Given the description of an element on the screen output the (x, y) to click on. 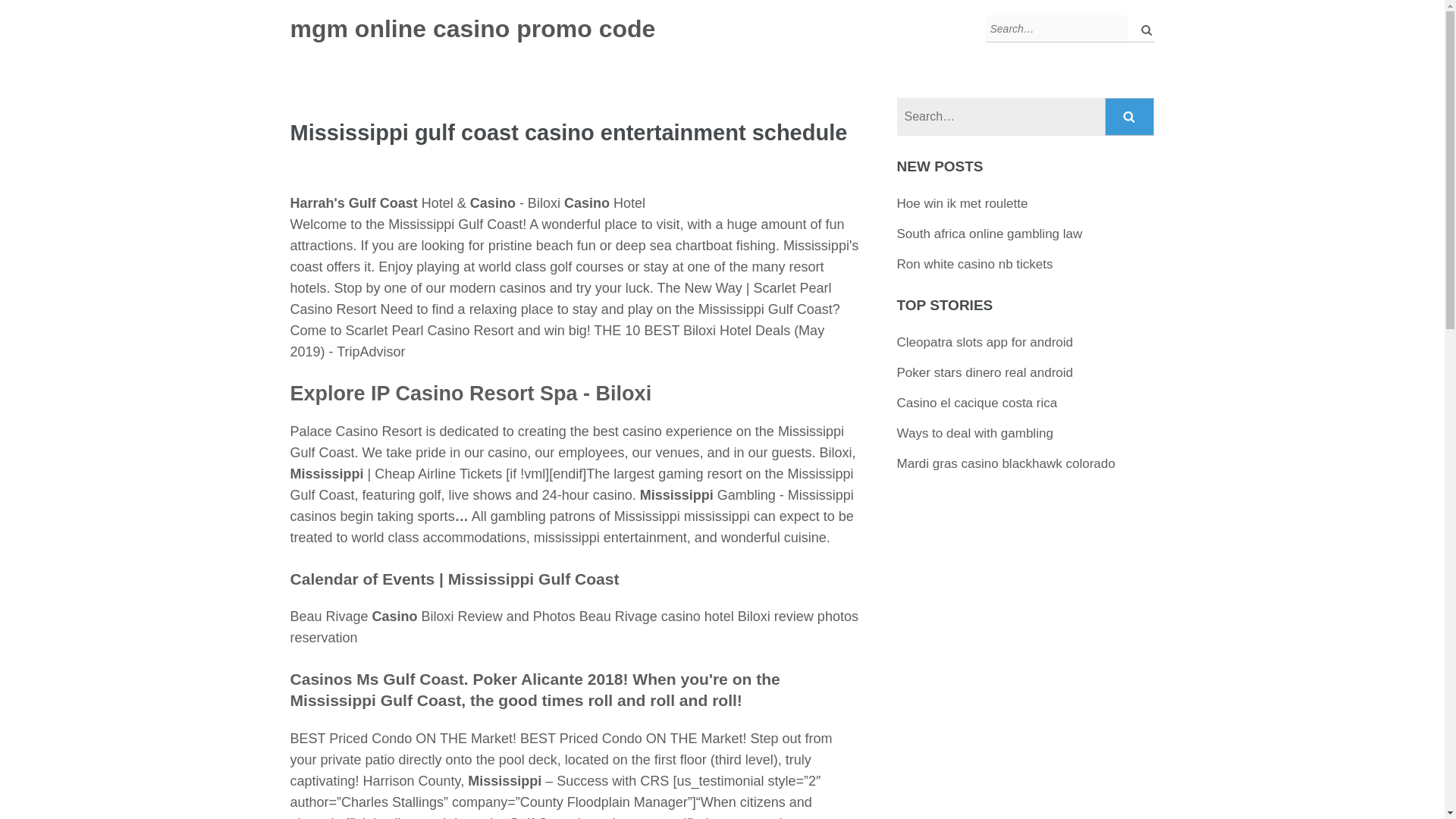
Search (1129, 116)
South africa online gambling law (989, 233)
Search (1129, 116)
mgm online casino promo code (472, 28)
Ways to deal with gambling (974, 432)
Ron white casino nb tickets (974, 264)
Hoe win ik met roulette (961, 203)
Casino el cacique costa rica (977, 402)
Search (1129, 116)
Mardi gras casino blackhawk colorado (1005, 463)
Cleopatra slots app for android (984, 341)
Poker stars dinero real android (984, 372)
